Given the description of an element on the screen output the (x, y) to click on. 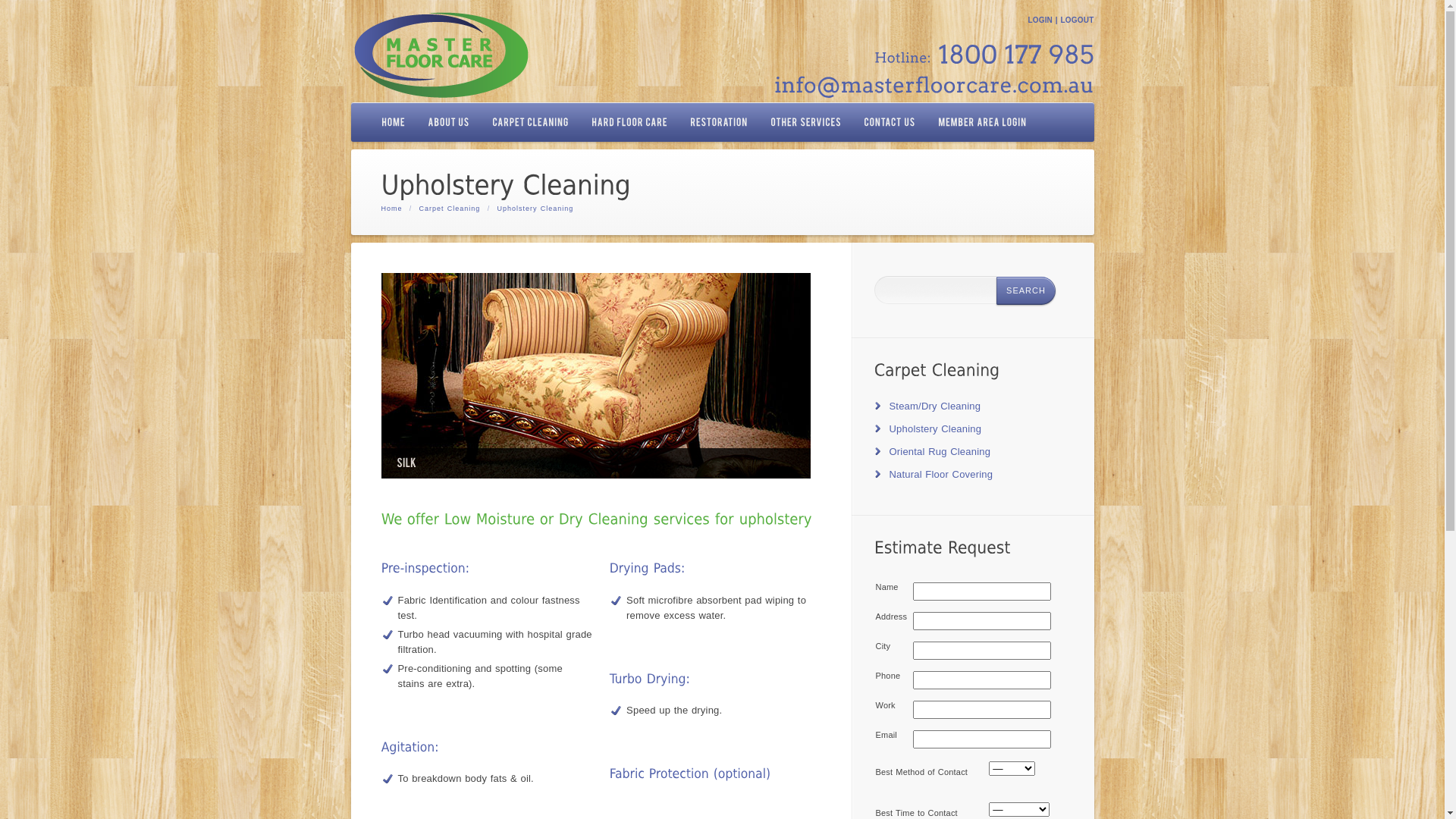
Natural Floor Covering Element type: text (940, 474)
Carpet Cleaning Element type: text (449, 208)
LOGOUT Element type: text (1077, 19)
Search Element type: text (1025, 290)
Home Element type: text (390, 208)
Steam/Dry Cleaning Element type: text (934, 405)
Upholstery Cleaning Element type: text (934, 428)
LOGIN Element type: text (1039, 19)
Oriental Rug Cleaning Element type: text (939, 451)
